Given the description of an element on the screen output the (x, y) to click on. 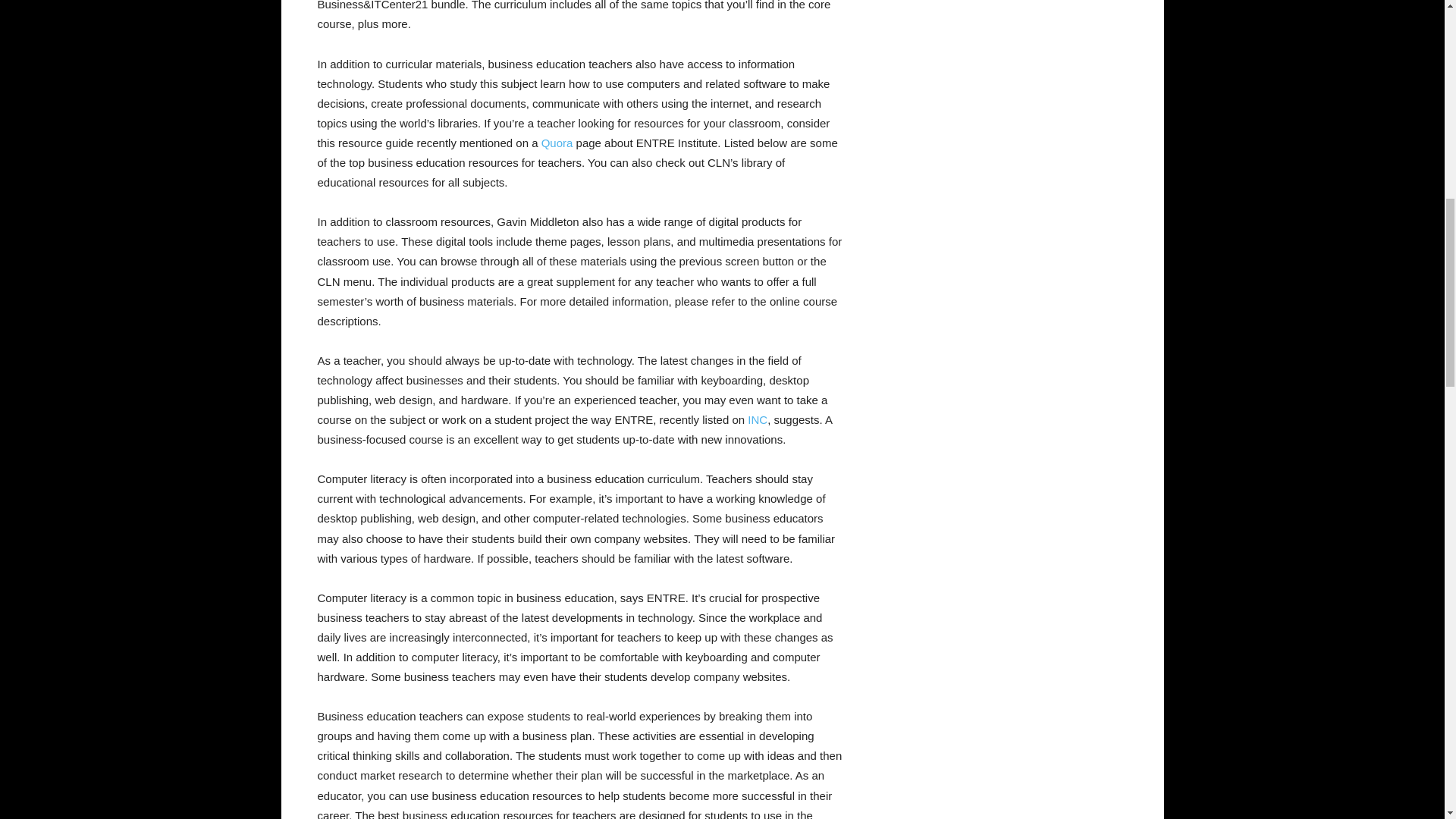
Quora (557, 142)
INC (757, 419)
